Given the description of an element on the screen output the (x, y) to click on. 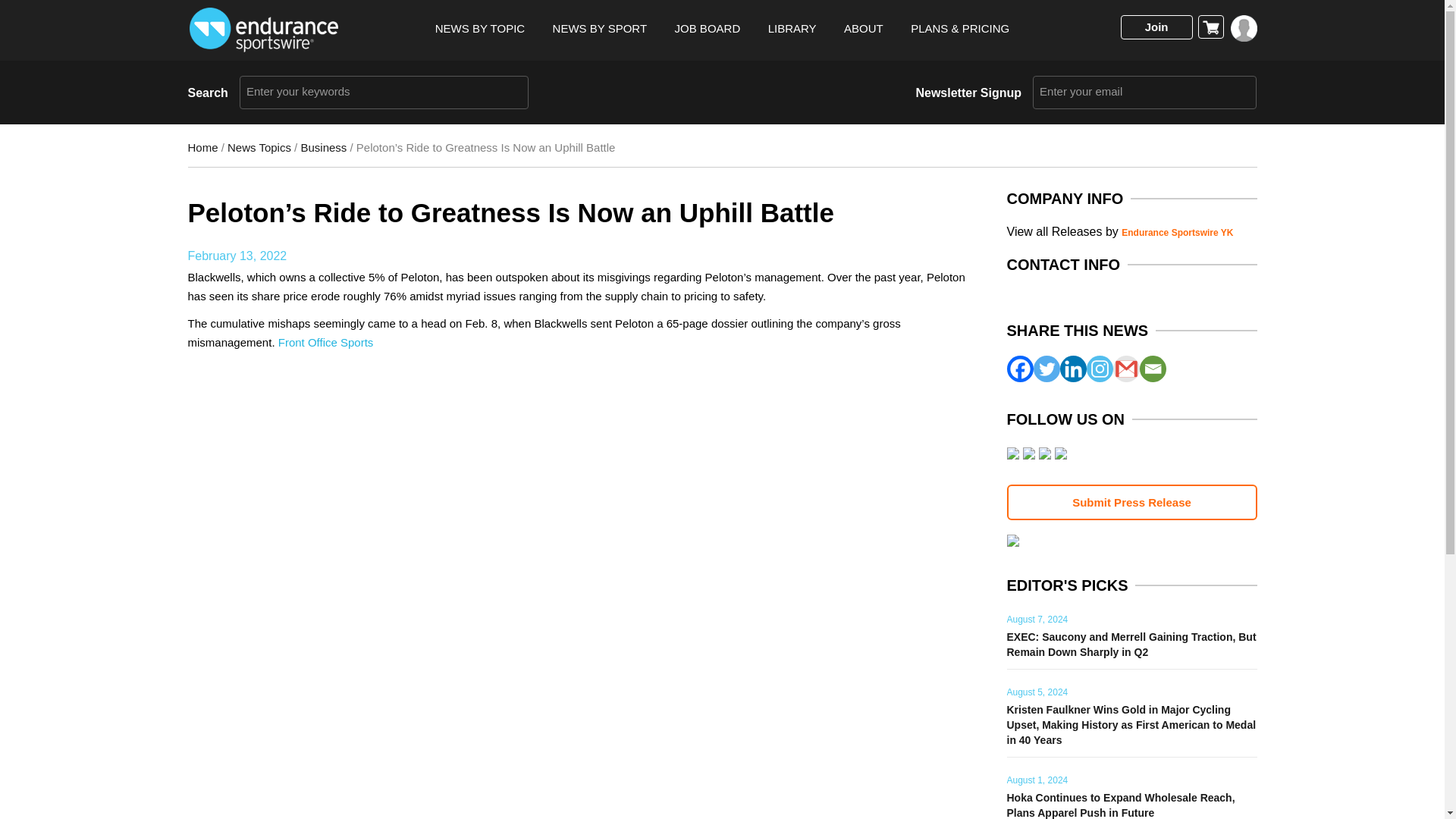
Google Gmail (1126, 368)
LIBRARY (792, 28)
NEWS BY TOPIC (479, 28)
Facebook (1020, 368)
Email (1152, 368)
Instagram (1099, 368)
ABOUT (863, 28)
Posts by Endurance Sportswire YK (1177, 232)
Linkedin (1072, 368)
JOB BOARD (708, 28)
